Given the description of an element on the screen output the (x, y) to click on. 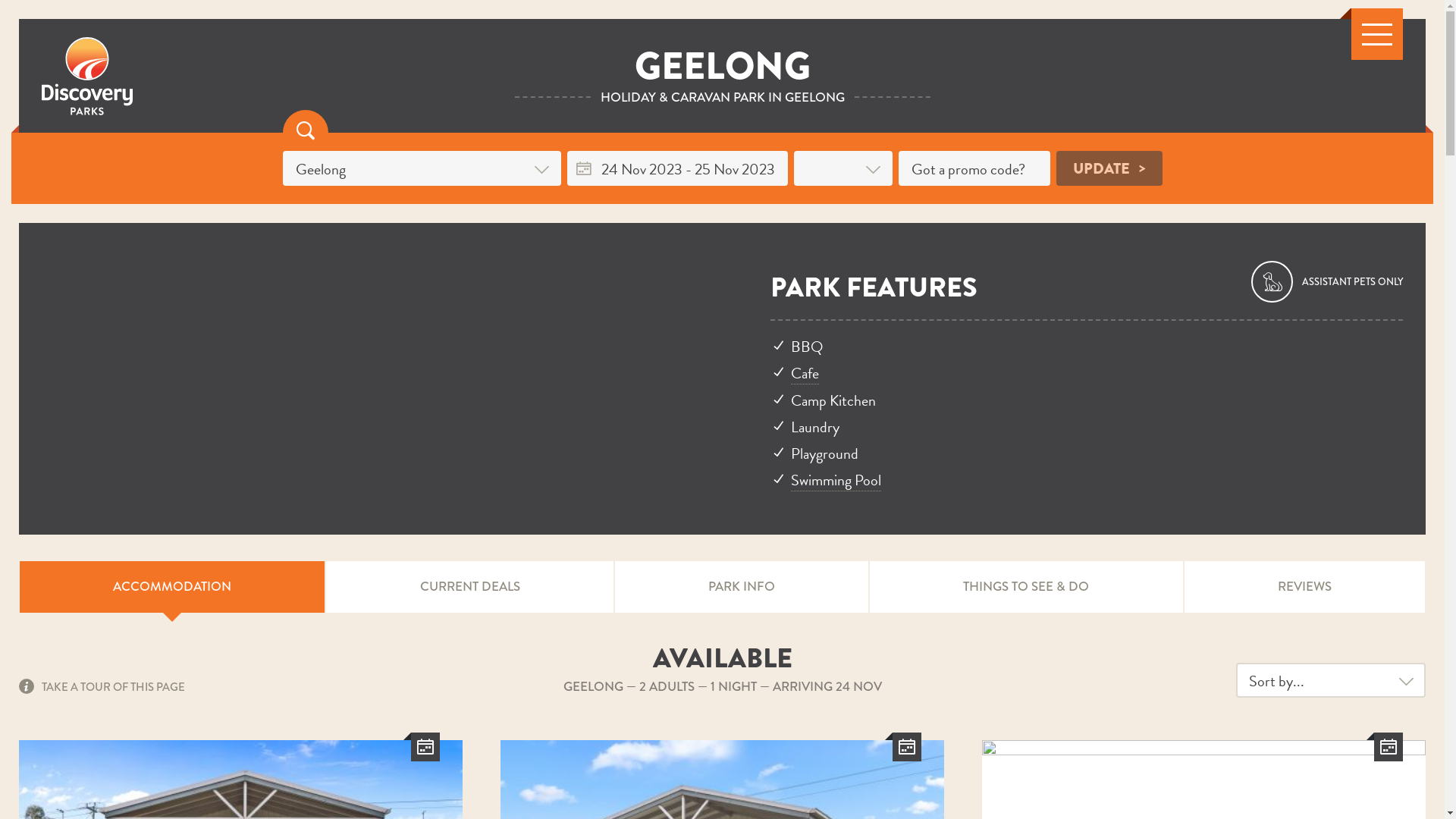
TAKE A TOUR OF THIS PAGE Element type: text (101, 685)
Calendar view Element type: text (906, 746)
Calendar view Element type: text (425, 746)
ACCOMMODATION Element type: text (171, 586)
PARK INFO Element type: text (741, 586)
CURRENT DEALS Element type: text (469, 586)
Calendar view Element type: text (1388, 746)
UPDATE Element type: text (1108, 167)
THINGS TO SEE & DO Element type: text (1025, 586)
REVIEWS Element type: text (1304, 586)
